Given the description of an element on the screen output the (x, y) to click on. 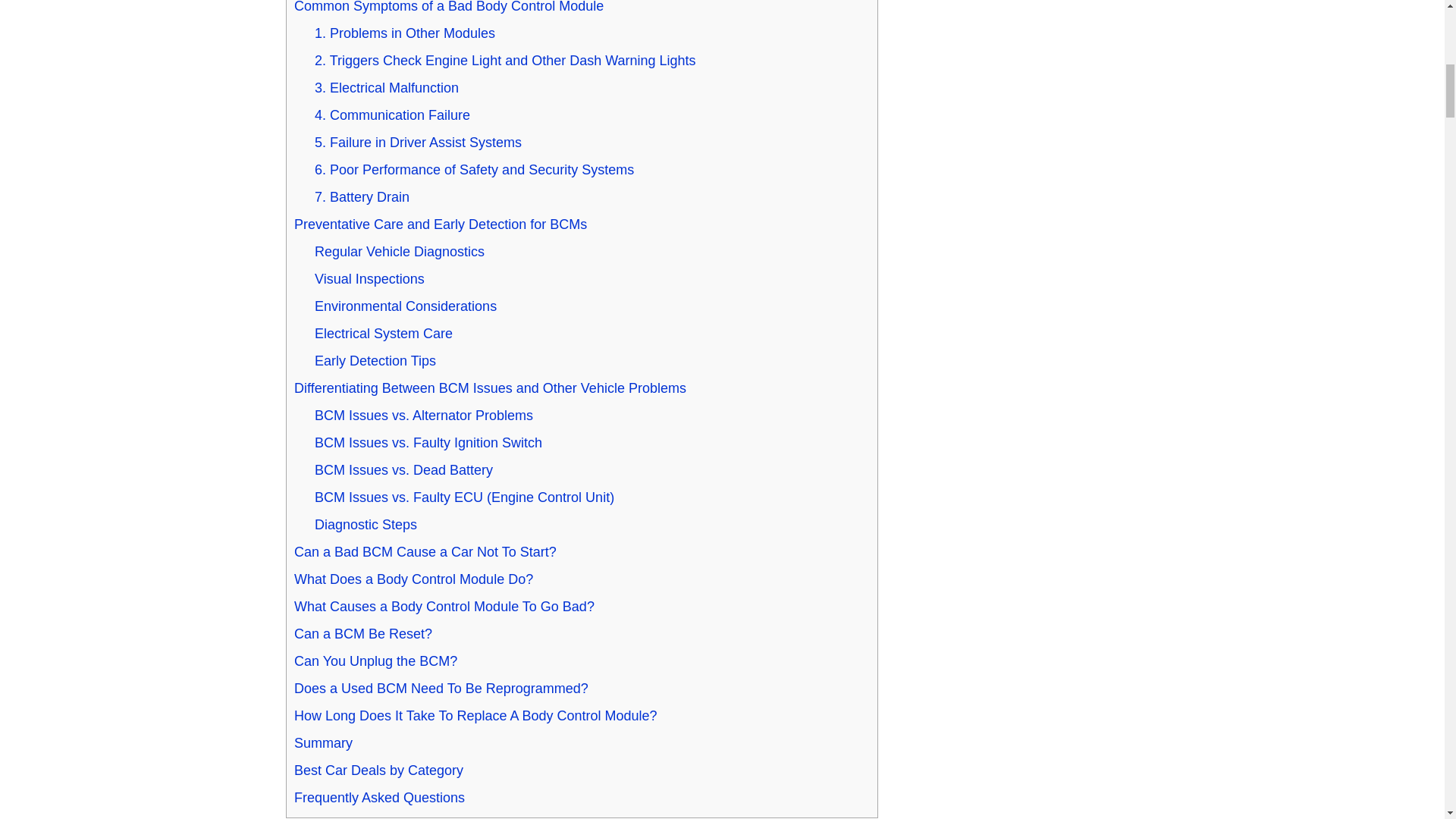
BCM Issues vs. Alternator Problems (423, 415)
BCM Issues vs. Dead Battery (403, 469)
Regular Vehicle Diagnostics (399, 251)
Environmental Considerations (405, 305)
2. Triggers Check Engine Light and Other Dash Warning Lights (504, 60)
Diagnostic Steps (365, 524)
Can a BCM Be Reset? (363, 633)
6. Poor Performance of Safety and Security Systems (473, 169)
Common Symptoms of a Bad Body Control Module (449, 6)
Can a Bad BCM Cause a Car Not To Start? (425, 551)
